Given the description of an element on the screen output the (x, y) to click on. 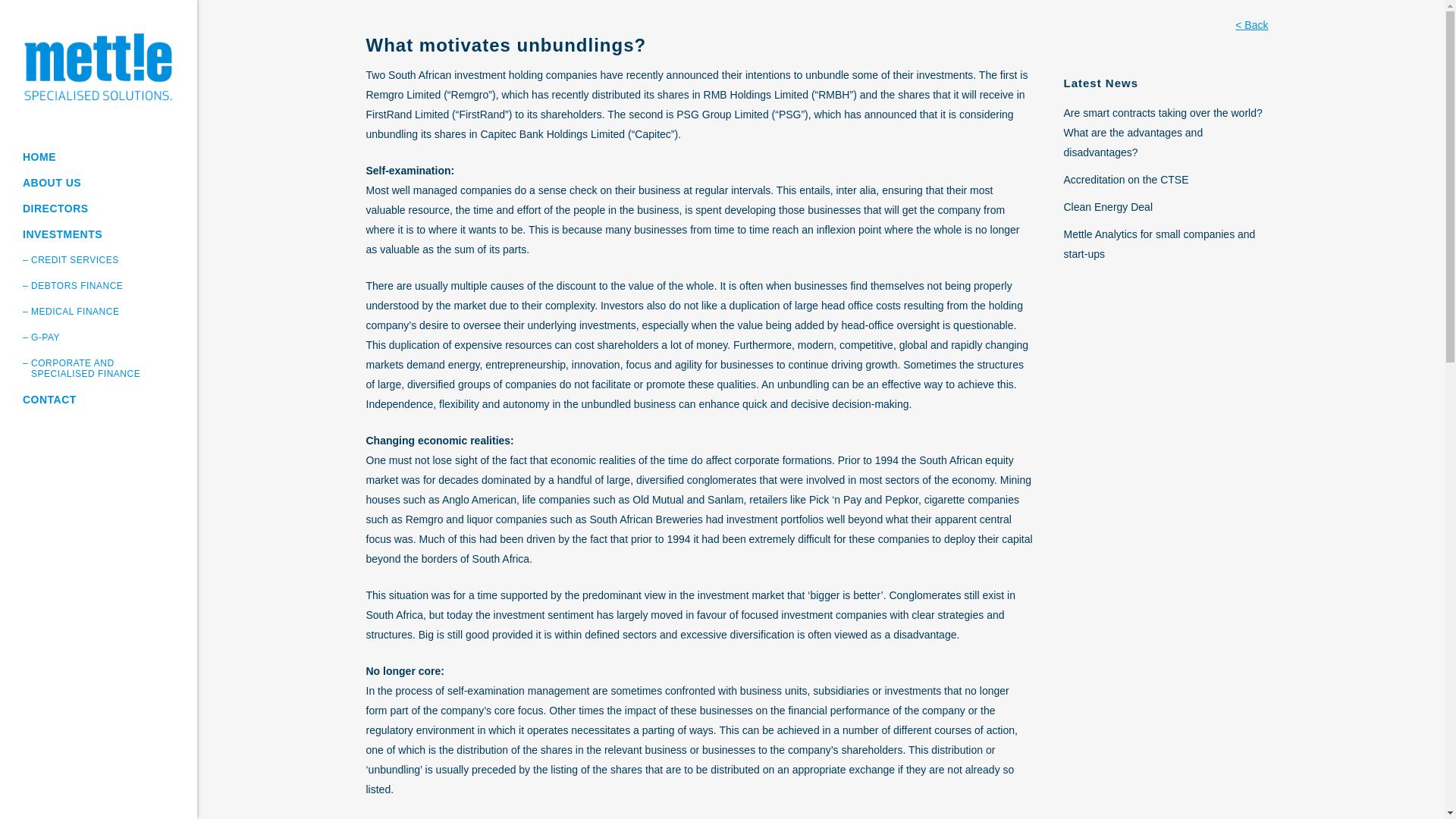
Mettle Analytics for small companies and start-ups (1158, 244)
CONTACT (98, 399)
INVESTMENTS (98, 234)
HOME (98, 156)
Accreditation on the CTSE (1125, 179)
DIRECTORS (98, 208)
ABOUT US (98, 182)
Clean Energy Deal (1107, 206)
